Given the description of an element on the screen output the (x, y) to click on. 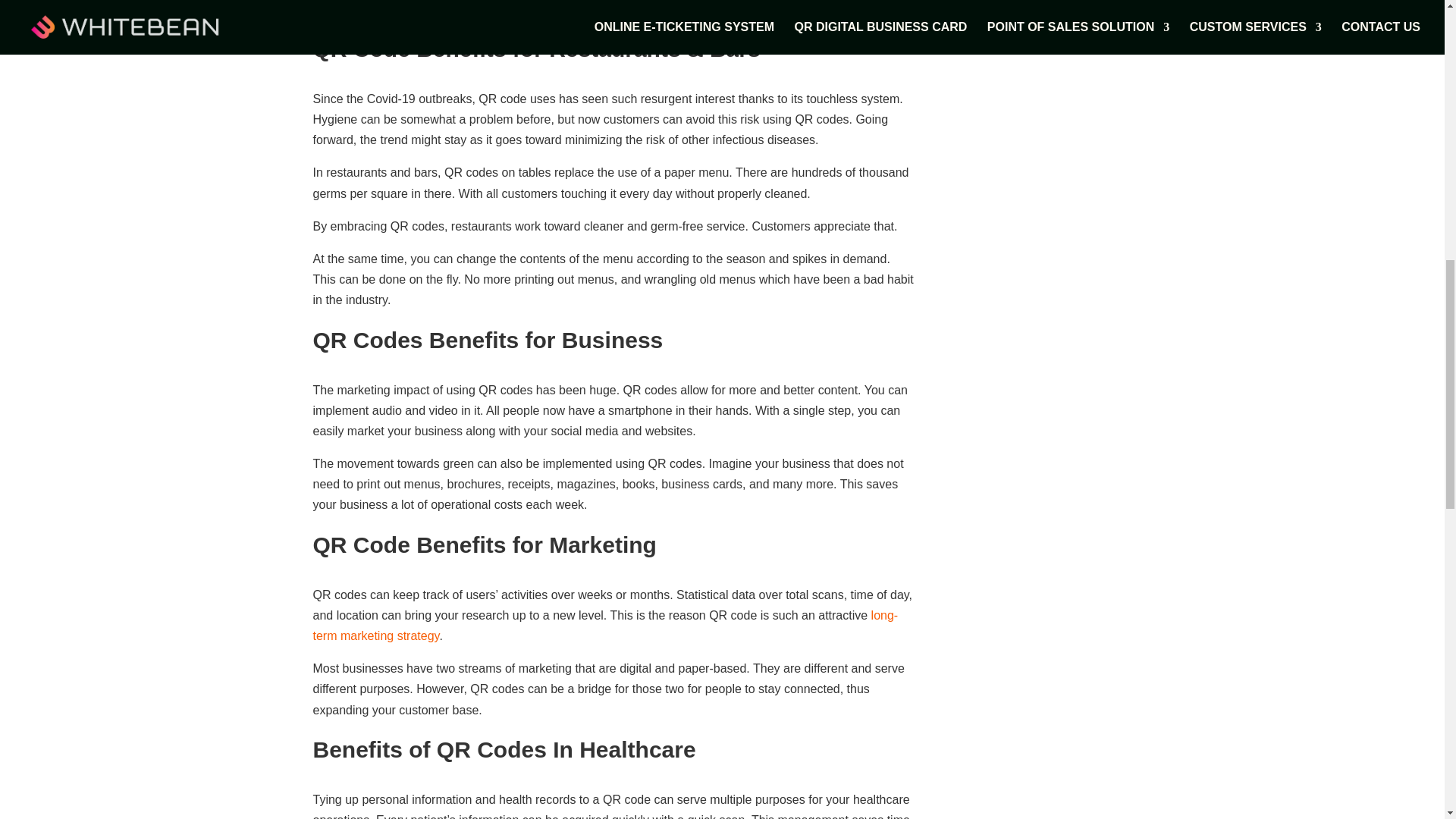
long-term marketing strategy (605, 625)
